Given the description of an element on the screen output the (x, y) to click on. 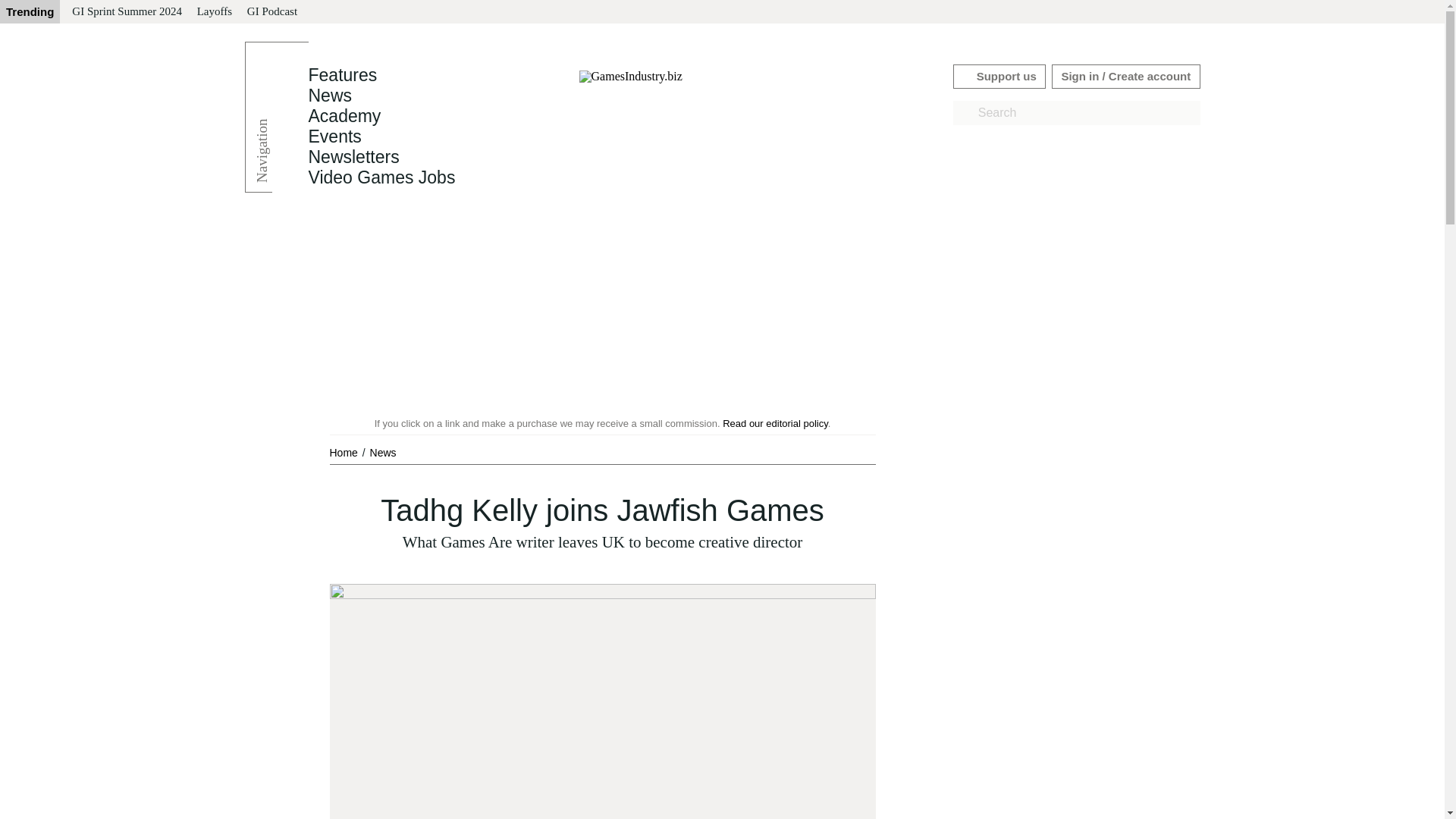
GI Podcast (271, 11)
Events (334, 136)
Newsletters (352, 157)
News (382, 452)
Layoffs (214, 11)
GI Podcast (271, 11)
Events (334, 136)
Layoffs (214, 11)
GI Sprint Summer 2024 (126, 11)
News (382, 452)
Home (344, 452)
Video Games Jobs (380, 177)
News (329, 95)
Support us (999, 75)
Academy (343, 116)
